Given the description of an element on the screen output the (x, y) to click on. 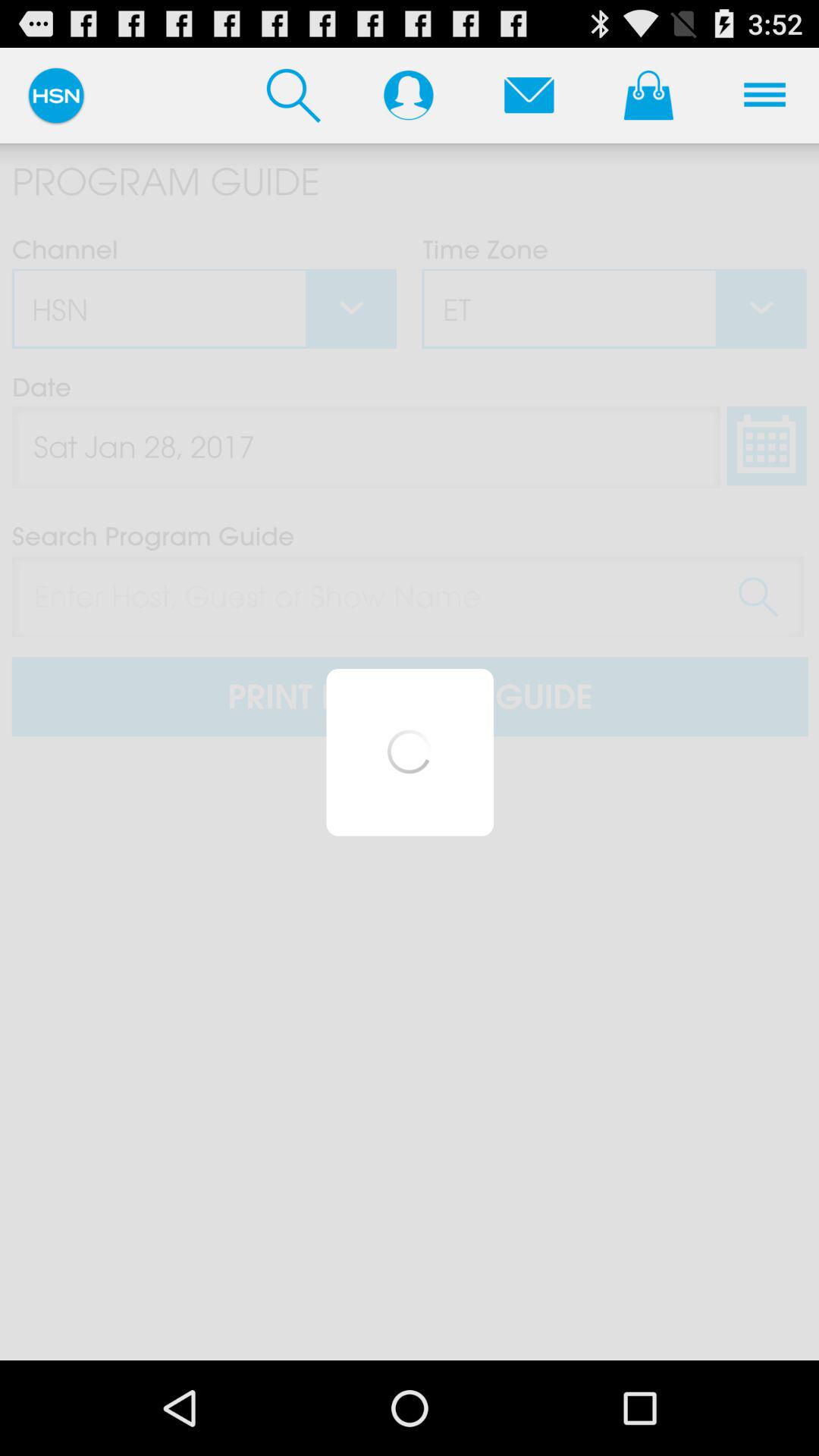
contact list (408, 95)
